Given the description of an element on the screen output the (x, y) to click on. 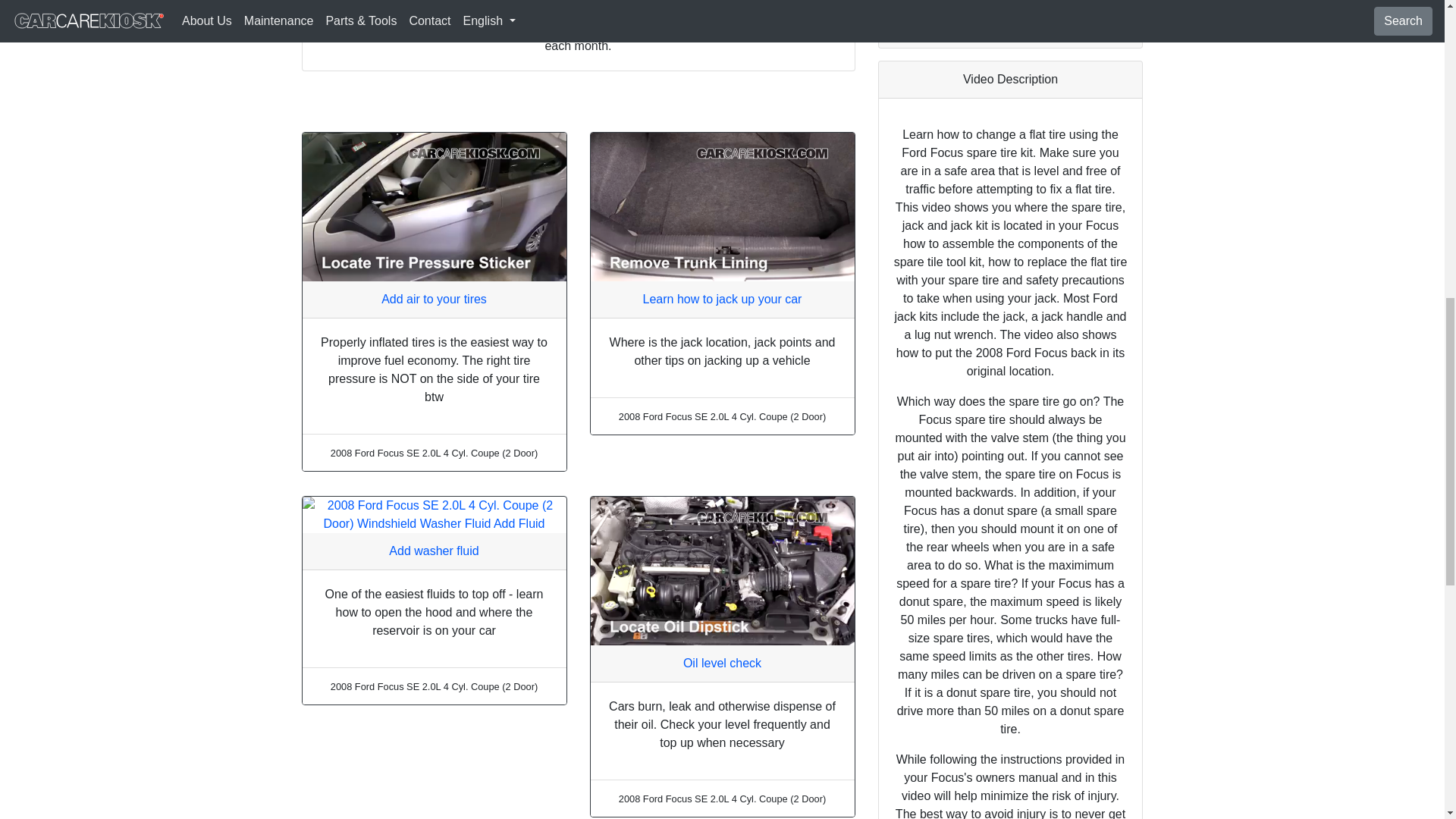
Oil level check (721, 662)
Add washer fluid (433, 550)
Learn how to jack up your car (722, 298)
Add air to your tires (433, 298)
Full list of part and tools (1010, 29)
